Given the description of an element on the screen output the (x, y) to click on. 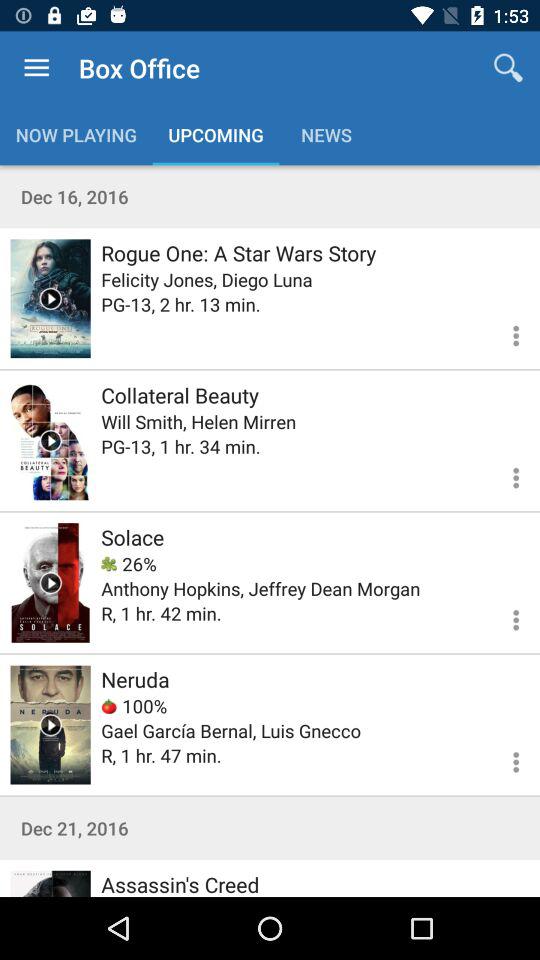
select options (503, 759)
